Given the description of an element on the screen output the (x, y) to click on. 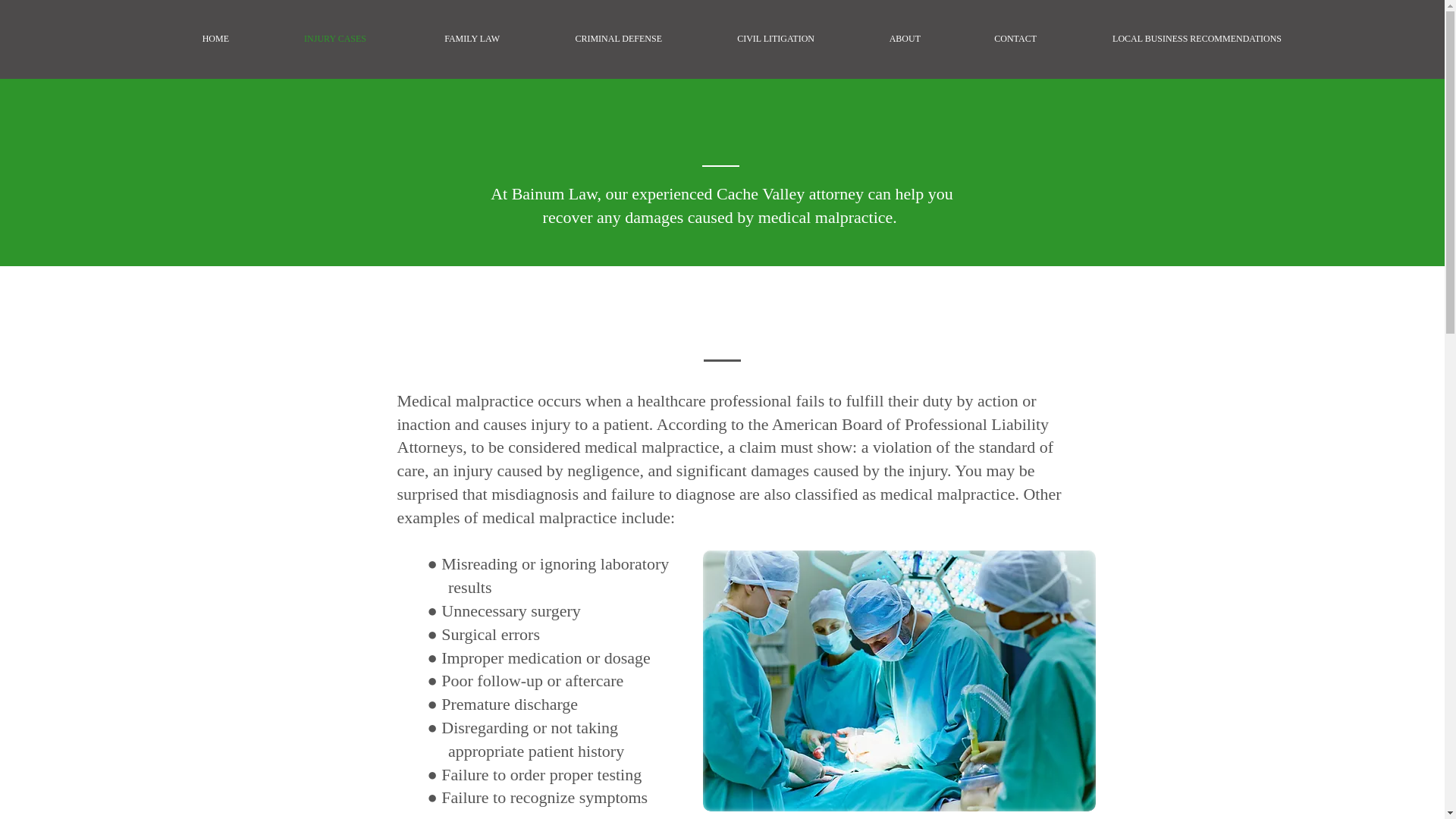
CONTACT (997, 39)
CIVIL LITIGATION (756, 39)
CRIMINAL DEFENSE (599, 39)
HOME (195, 39)
FAMILY LAW (451, 39)
INJURY CASES (316, 39)
LOCAL BUSINESS RECOMMENDATIONS (1177, 39)
ABOUT (885, 39)
